Given the description of an element on the screen output the (x, y) to click on. 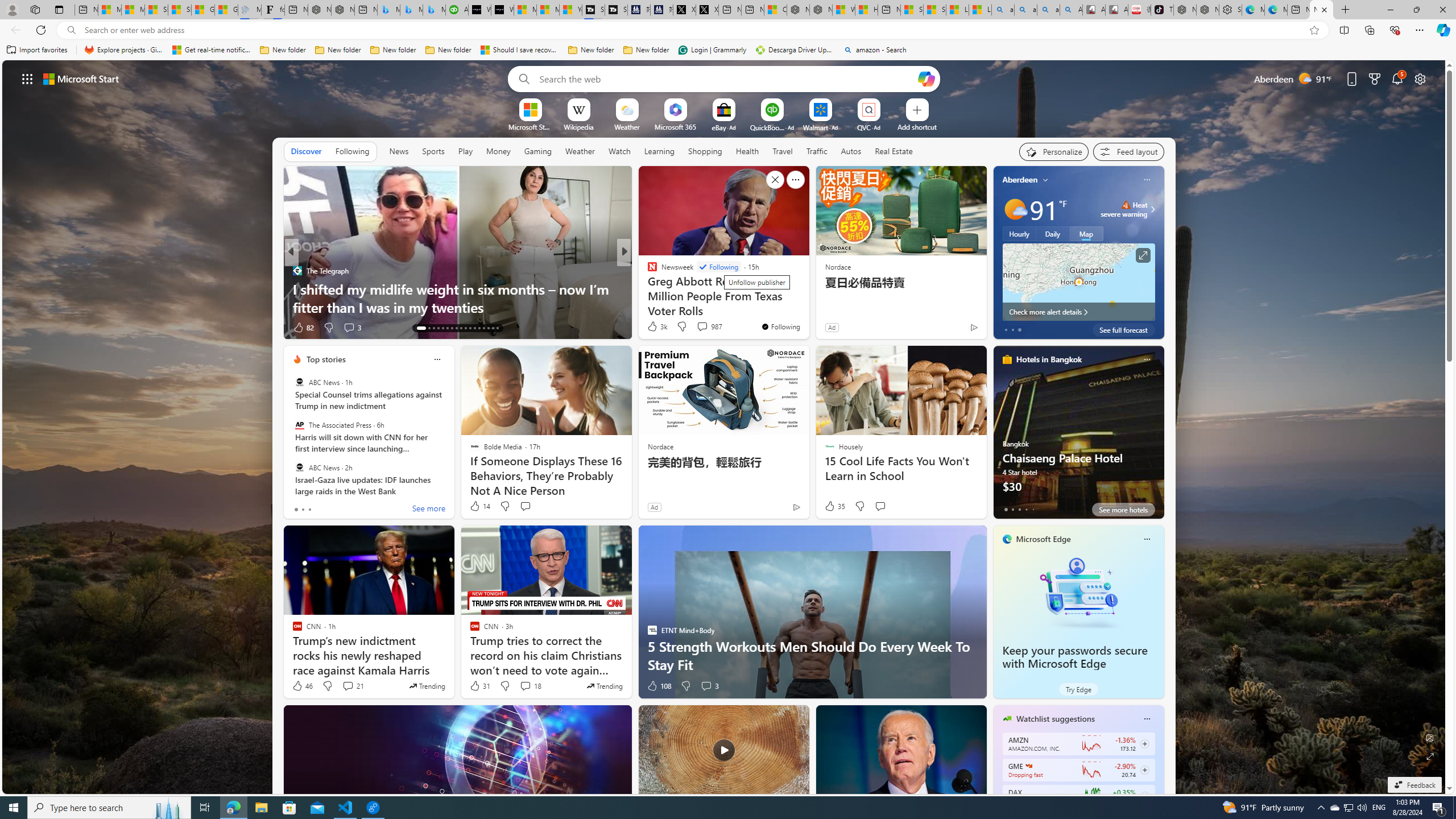
This story is trending (604, 685)
Heat - Severe Heat severe warning (1123, 208)
You're following FOX News (949, 329)
AutomationID: tab-24 (474, 328)
You're following The Weather Channel (949, 329)
AutomationID: tab-14 (428, 328)
491 Like (654, 327)
Wikipedia (578, 126)
45 Like (652, 327)
